Given the description of an element on the screen output the (x, y) to click on. 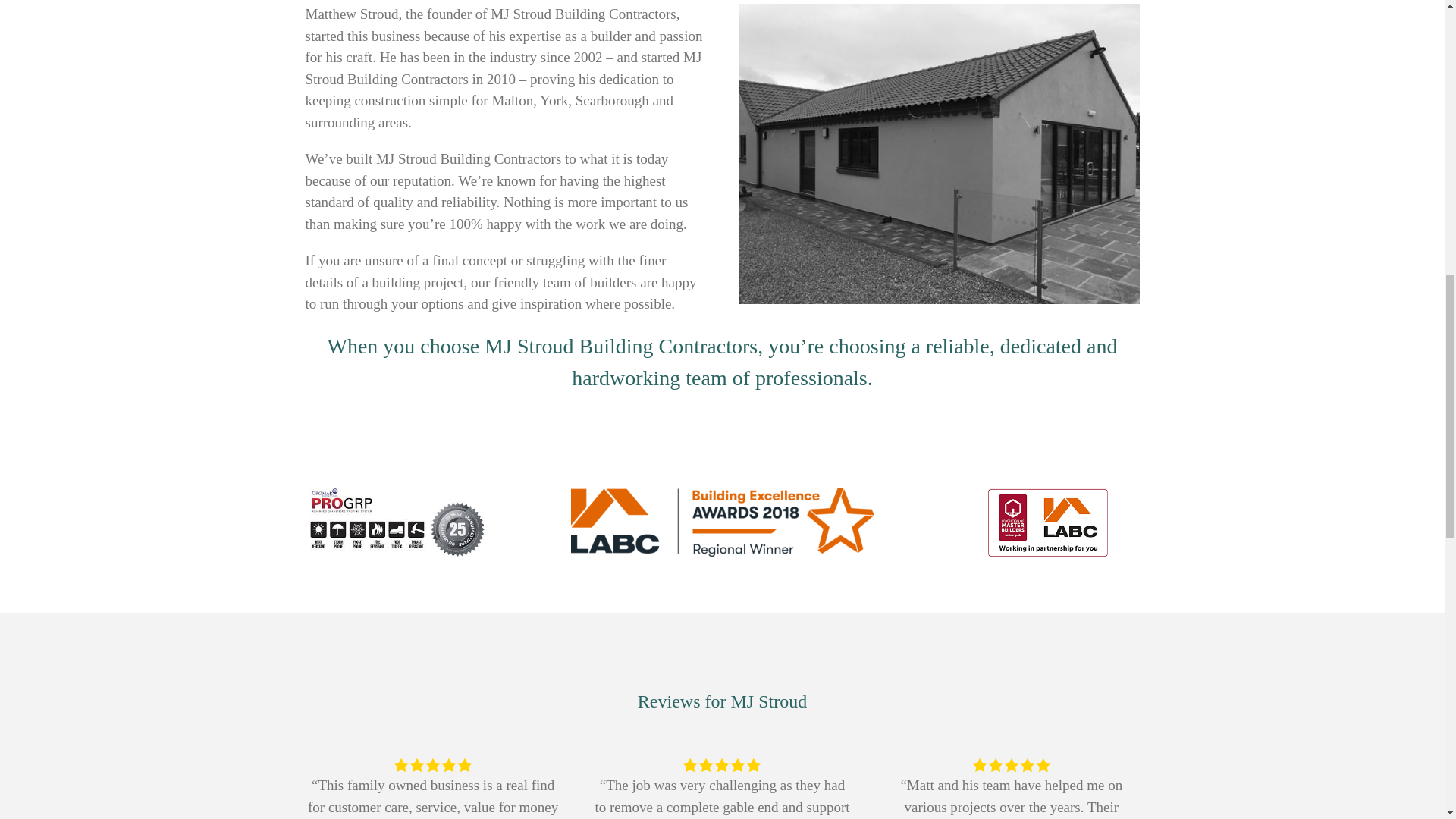
5stars-01 (721, 764)
pro-grp image (395, 522)
5stars-01 (1011, 764)
SidePictureForIntro (938, 153)
5stars-01 (433, 764)
